Given the description of an element on the screen output the (x, y) to click on. 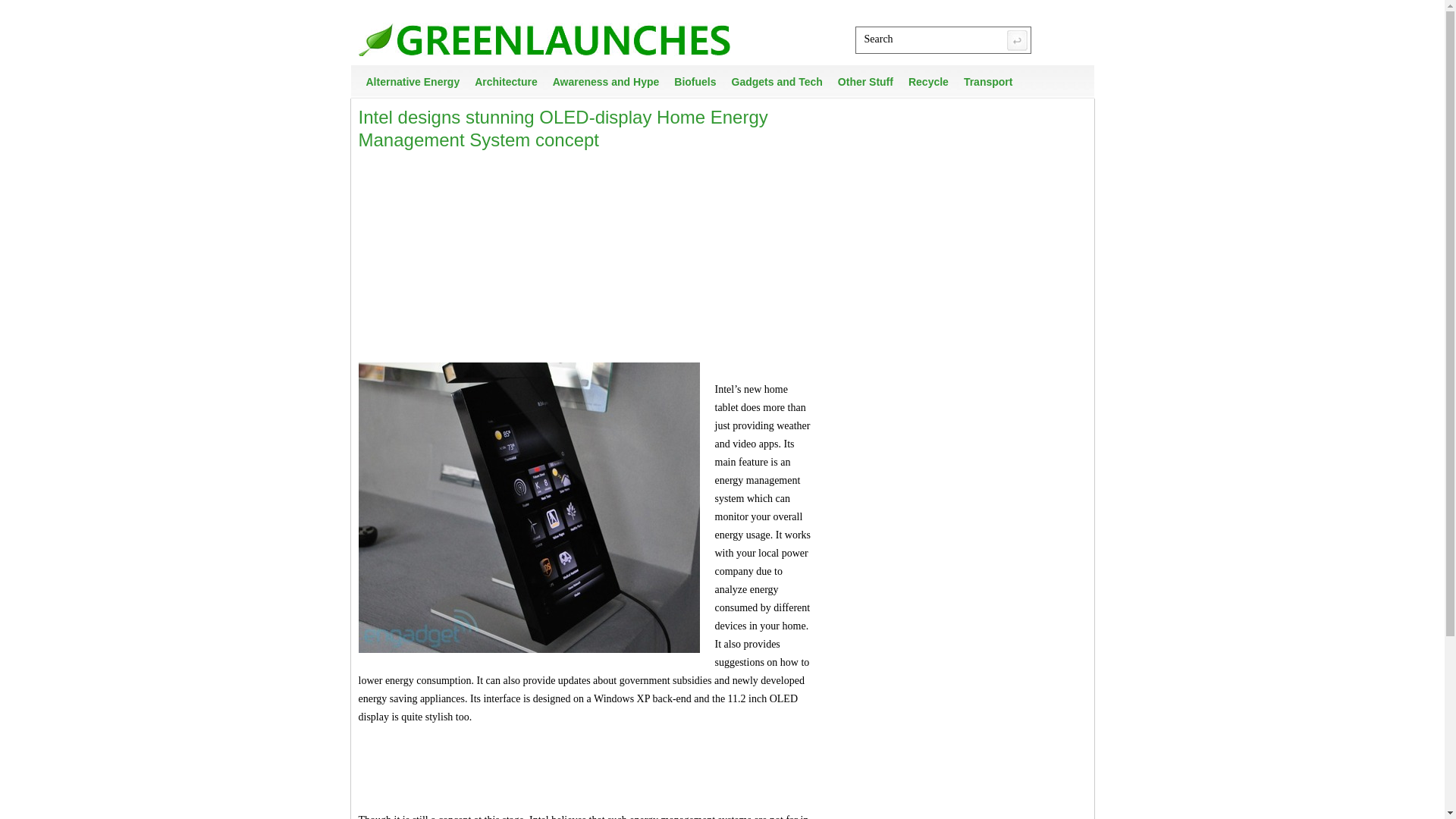
Awareness and Hype (606, 81)
Biofuels (695, 81)
Architecture (505, 81)
Other Stuff (865, 81)
Transport (988, 81)
Alternative Energy (412, 81)
Recycle (928, 81)
Search (1017, 40)
Advertisement (584, 253)
Advertisement (535, 756)
